Given the description of an element on the screen output the (x, y) to click on. 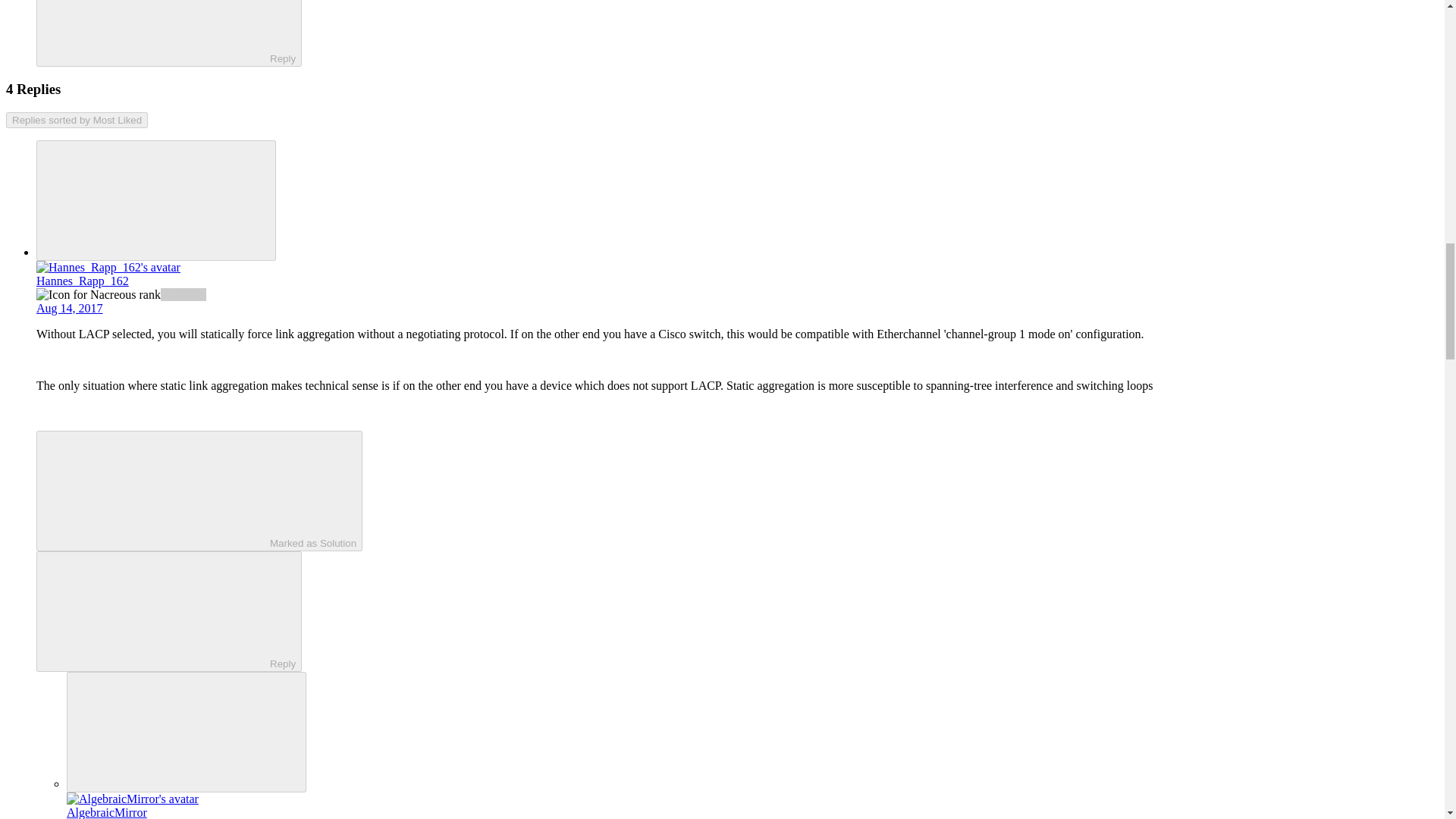
Marked as Solution (199, 490)
August 14, 2017 at 6:32 PM (69, 308)
ReplyReply (168, 33)
AlgebraicMirror (106, 812)
Replies sorted by Most Liked (76, 119)
Aug 14, 2017 (69, 308)
Reply (155, 31)
Reply (155, 610)
ReplyReply (168, 611)
